Given the description of an element on the screen output the (x, y) to click on. 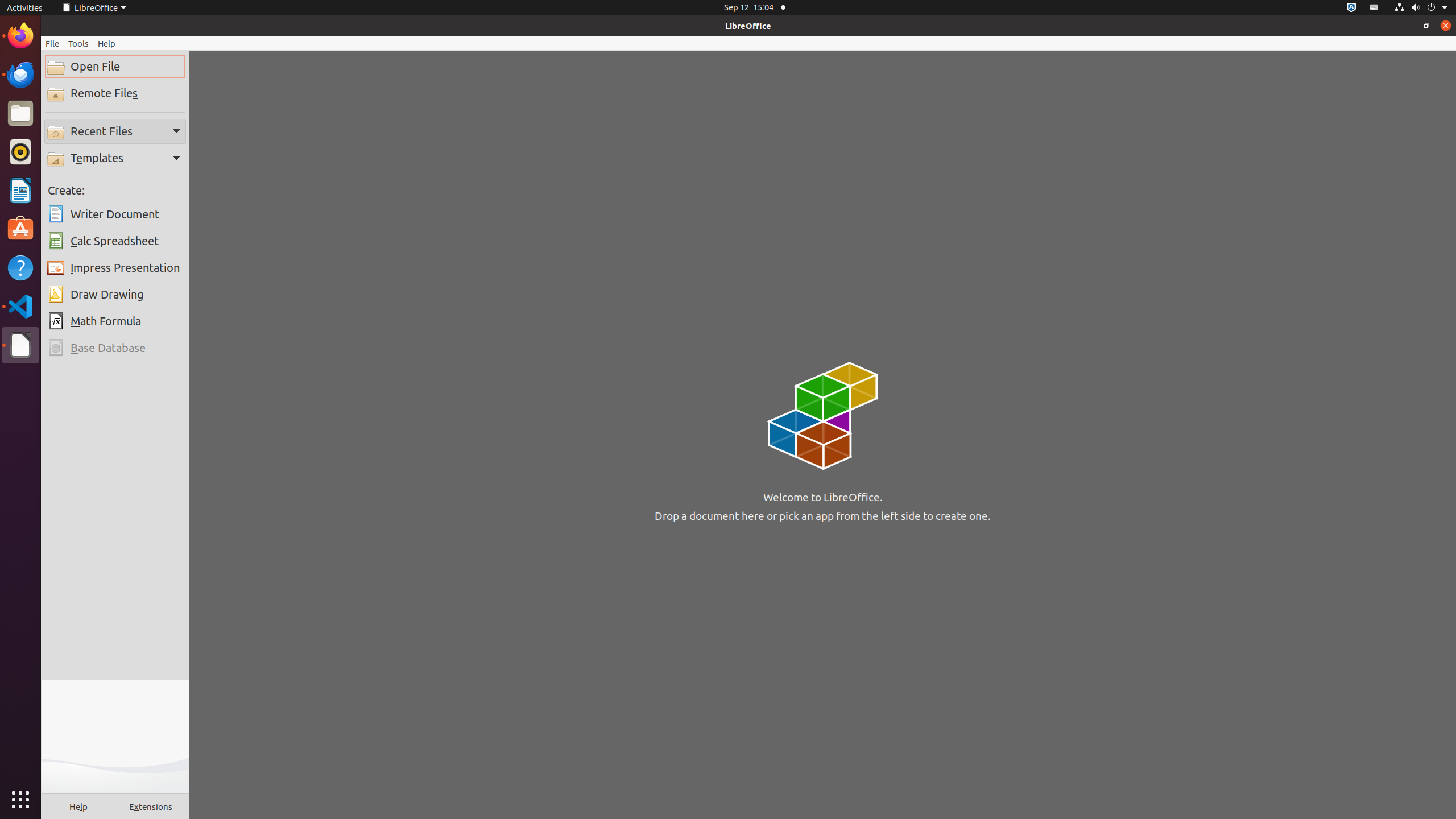
:1.21/StatusNotifierItem Element type: menu (1373, 7)
Draw Drawing Element type: push-button (114, 294)
Base Database Element type: push-button (114, 347)
Remote Files Element type: push-button (114, 92)
